Given the description of an element on the screen output the (x, y) to click on. 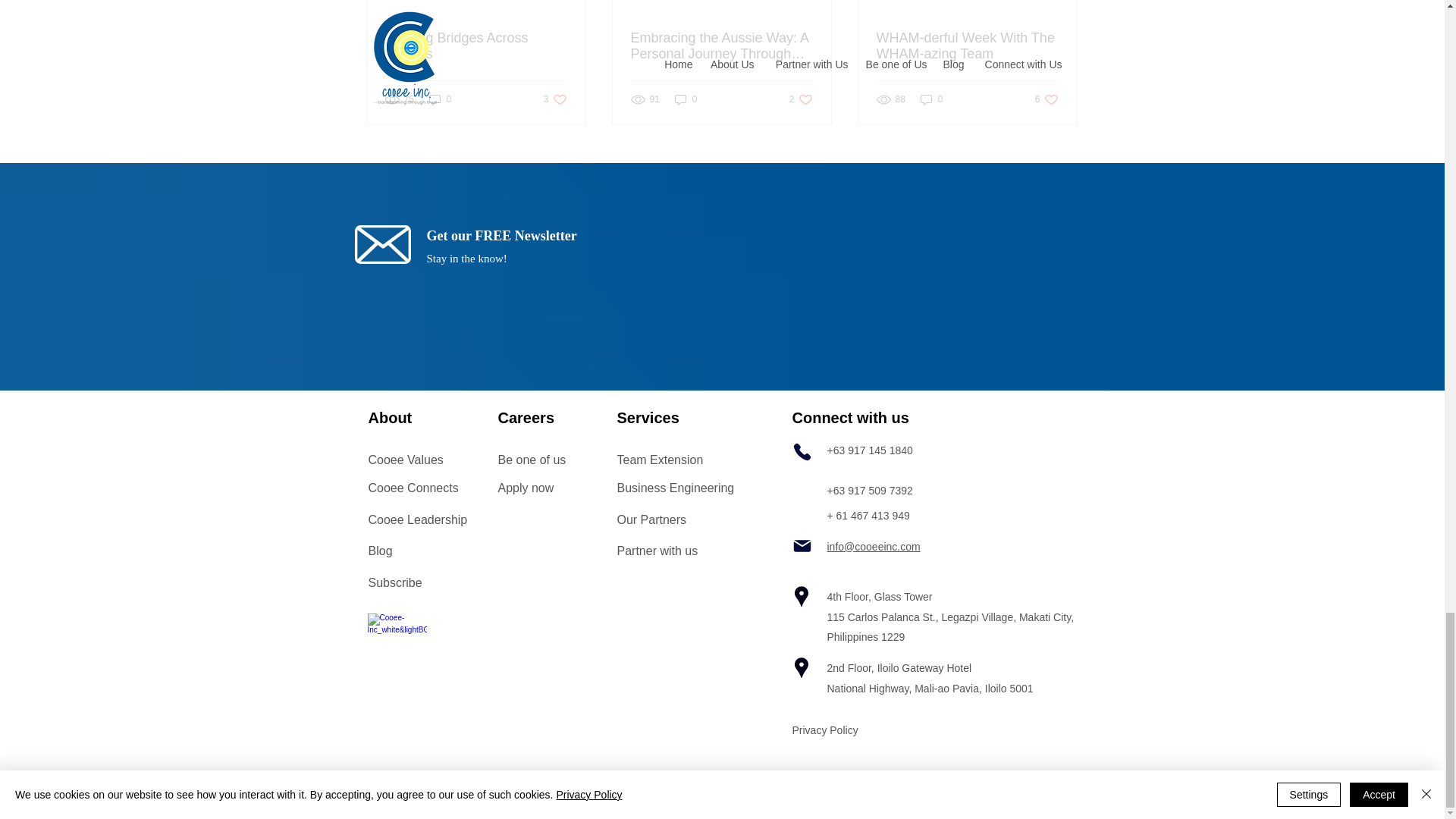
Building Bridges Across Borders (476, 46)
Cooee Connects (413, 487)
0 (440, 99)
0 (685, 99)
Apply now (525, 487)
0 (931, 99)
Cooee Values (1046, 99)
Be one of us (555, 99)
WHAM-derful Week With The WHAM-azing Team (406, 459)
